Given the description of an element on the screen output the (x, y) to click on. 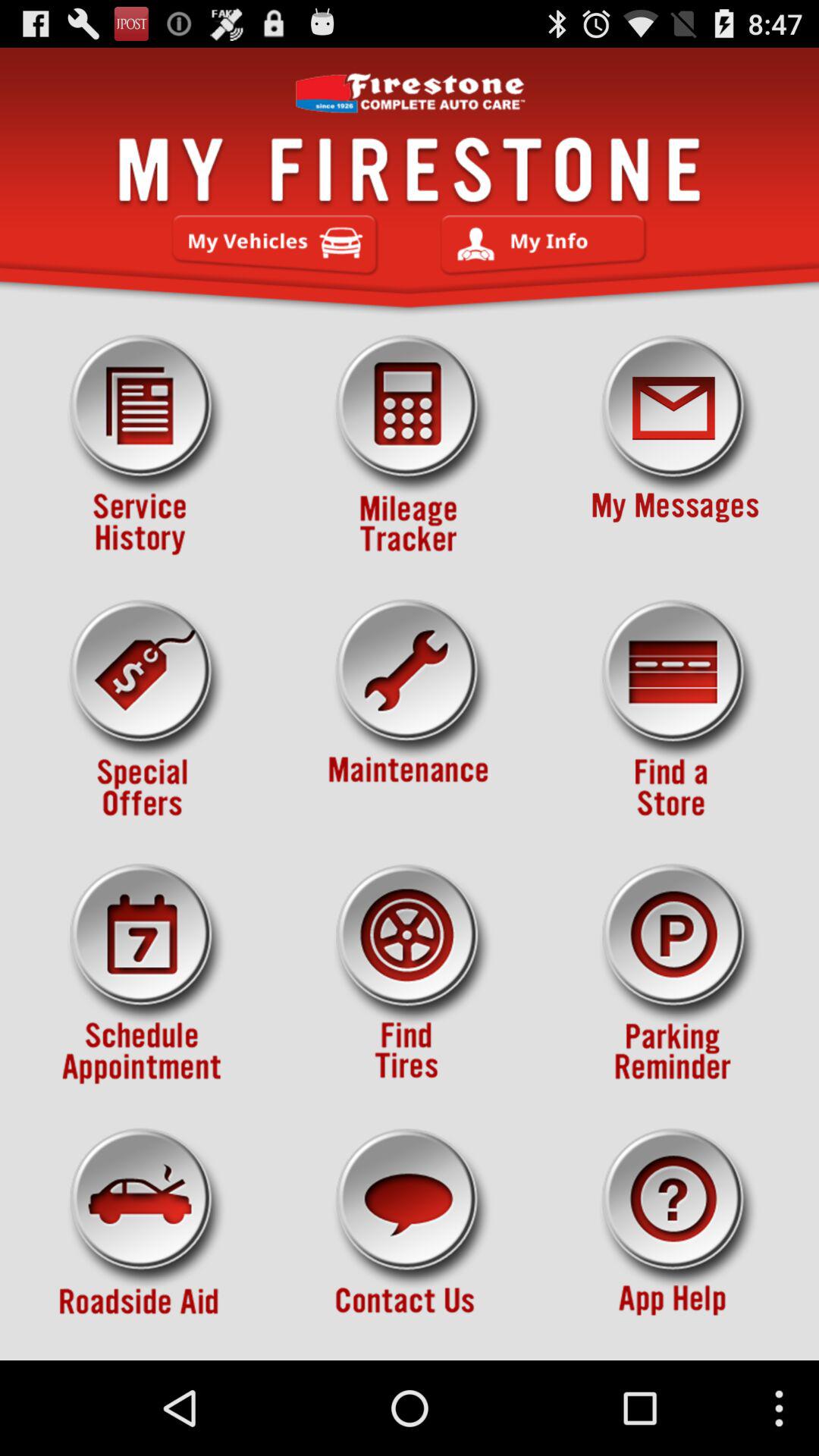
contactus (409, 1238)
